Given the description of an element on the screen output the (x, y) to click on. 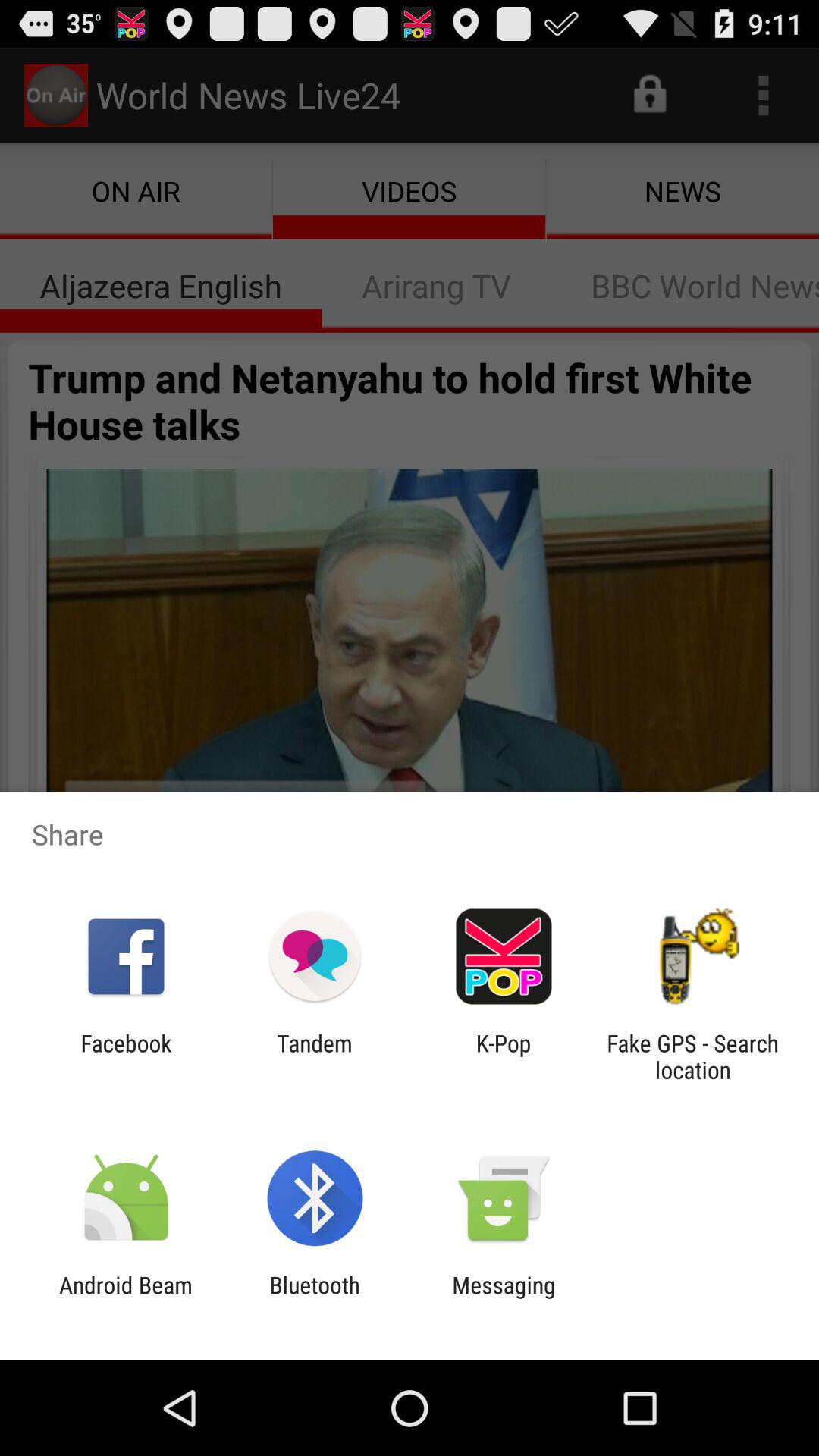
choose app next to facebook app (314, 1056)
